Given the description of an element on the screen output the (x, y) to click on. 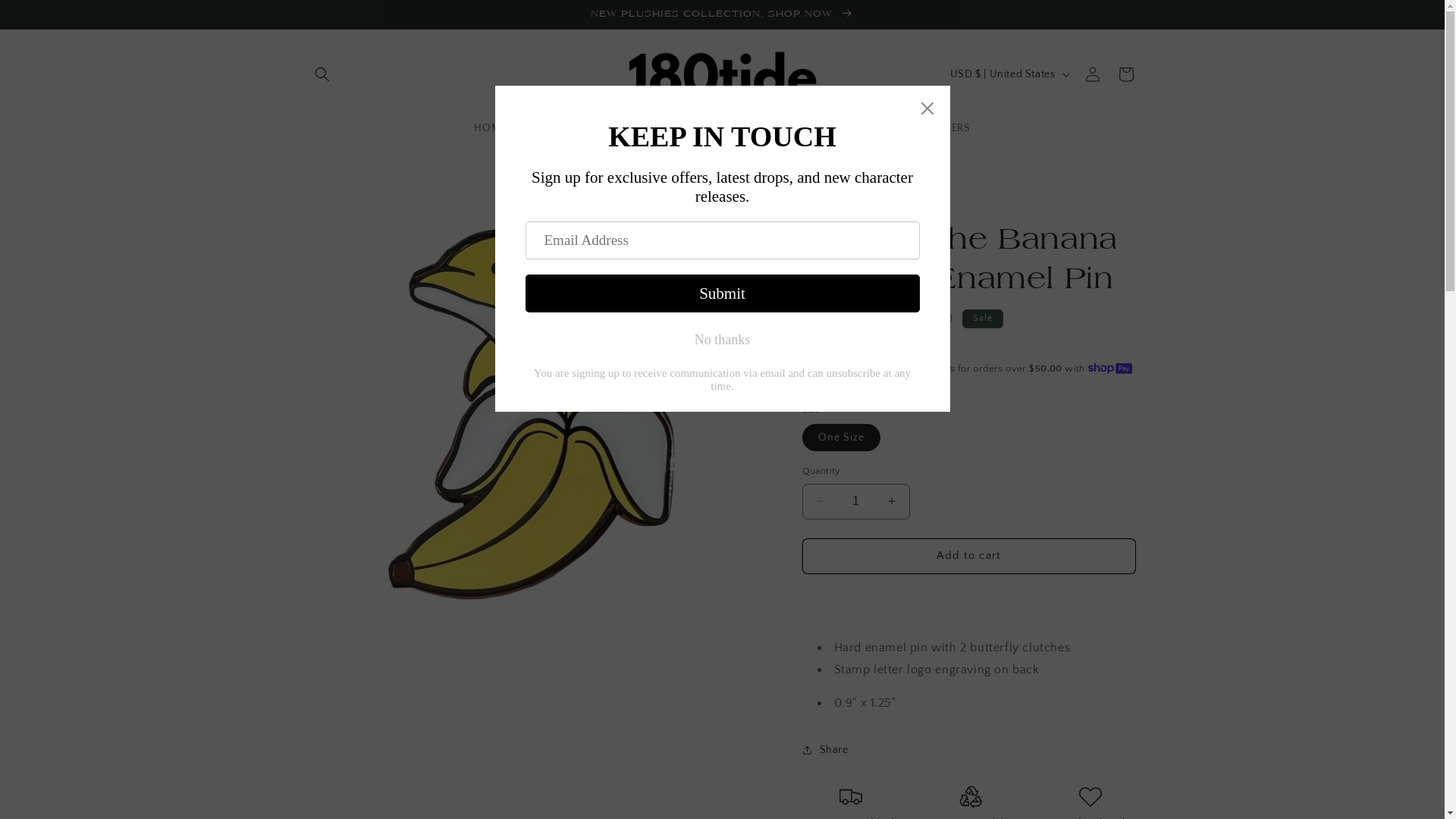
GIFT CARDS Element type: text (699, 128)
Log in Element type: text (1091, 74)
USD $ | United States Element type: text (1008, 73)
HOME Element type: text (489, 128)
Add to cart Element type: text (968, 556)
NEW PLUSHIES COLLECTION, SHOP NOW. Element type: text (721, 14)
Decrease quantity for BanDan the Banana Dolphin Enamel Pin Element type: text (819, 501)
Cart Element type: text (1125, 74)
OUR MISSION Element type: text (863, 128)
Shipping Element type: text (822, 341)
RETAILERS Element type: text (943, 128)
Skip to product information Element type: text (350, 203)
Increase quantity for BanDan the Banana Dolphin Enamel Pin Element type: text (892, 501)
OUR STORY Element type: text (778, 128)
CHARACTERS Element type: text (558, 128)
